Given the description of an element on the screen output the (x, y) to click on. 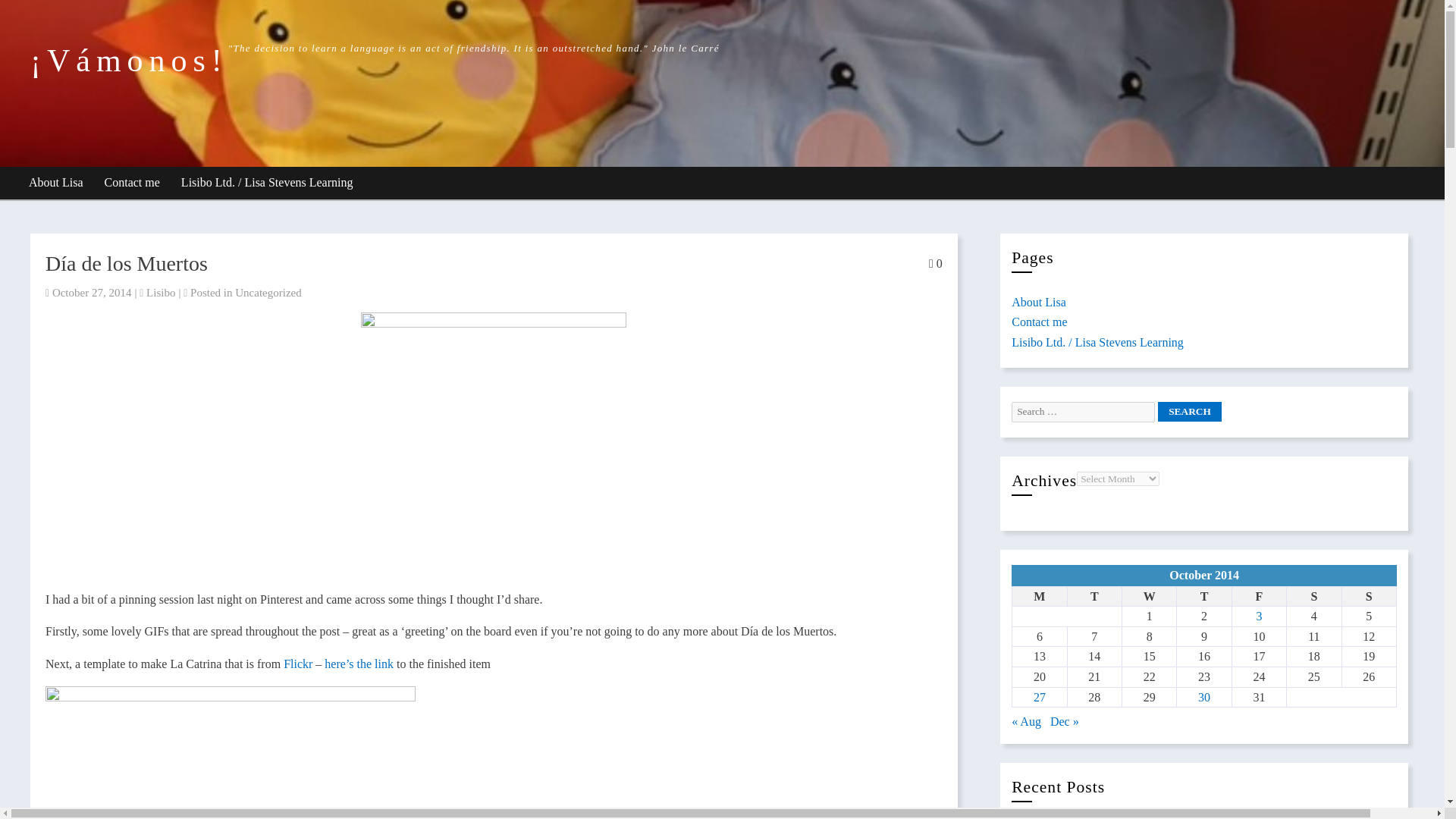
Lisibo (160, 292)
Wednesday (1148, 596)
Friday (1258, 596)
Contact me (132, 183)
Search (1189, 411)
Thursday (1203, 596)
Monday (1039, 596)
27 (1039, 697)
About Lisa (1038, 301)
Contact me (1039, 321)
